Given the description of an element on the screen output the (x, y) to click on. 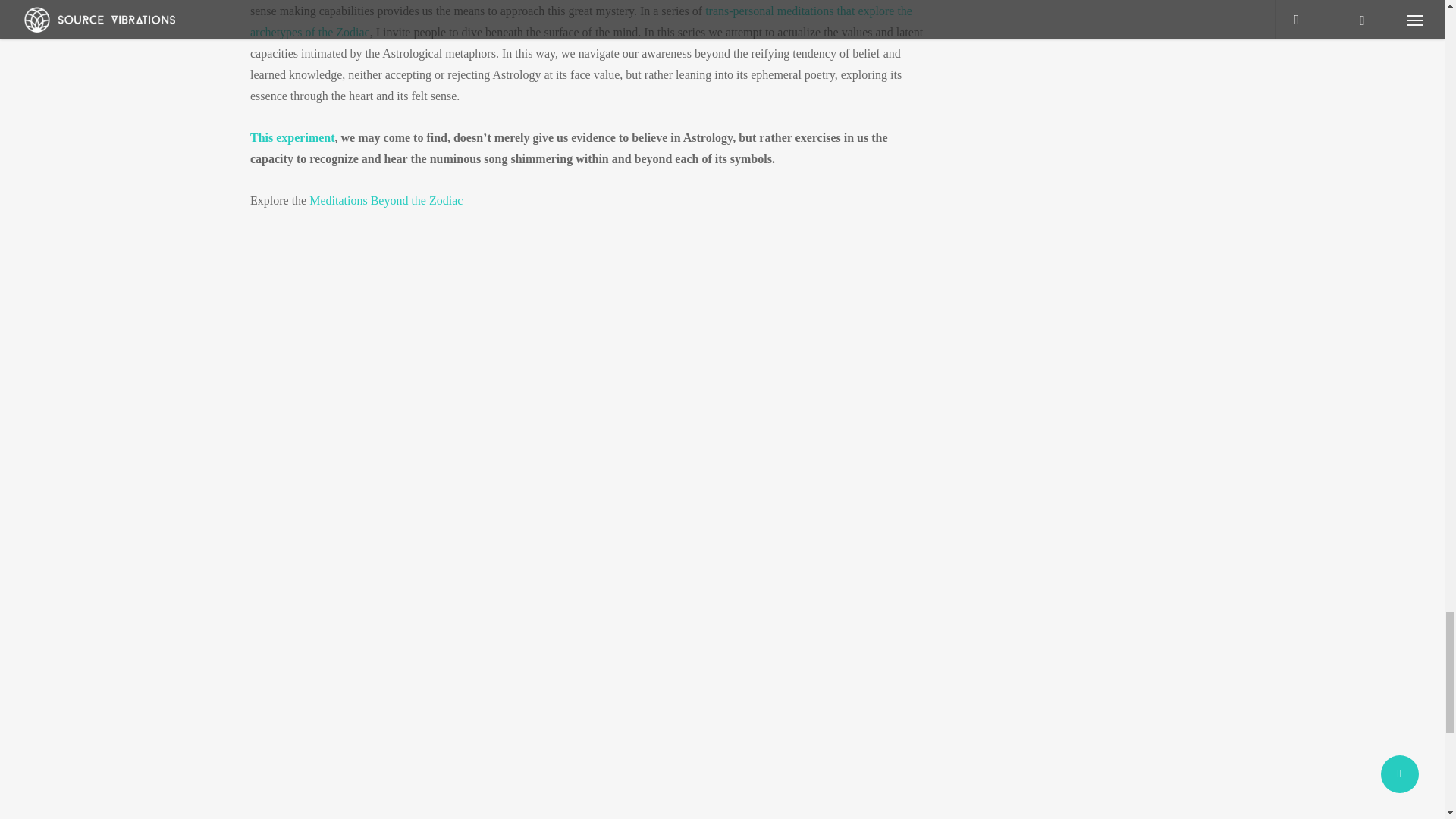
This experiment (292, 137)
Meditations Beyond the Zodiac (385, 200)
